Given the description of an element on the screen output the (x, y) to click on. 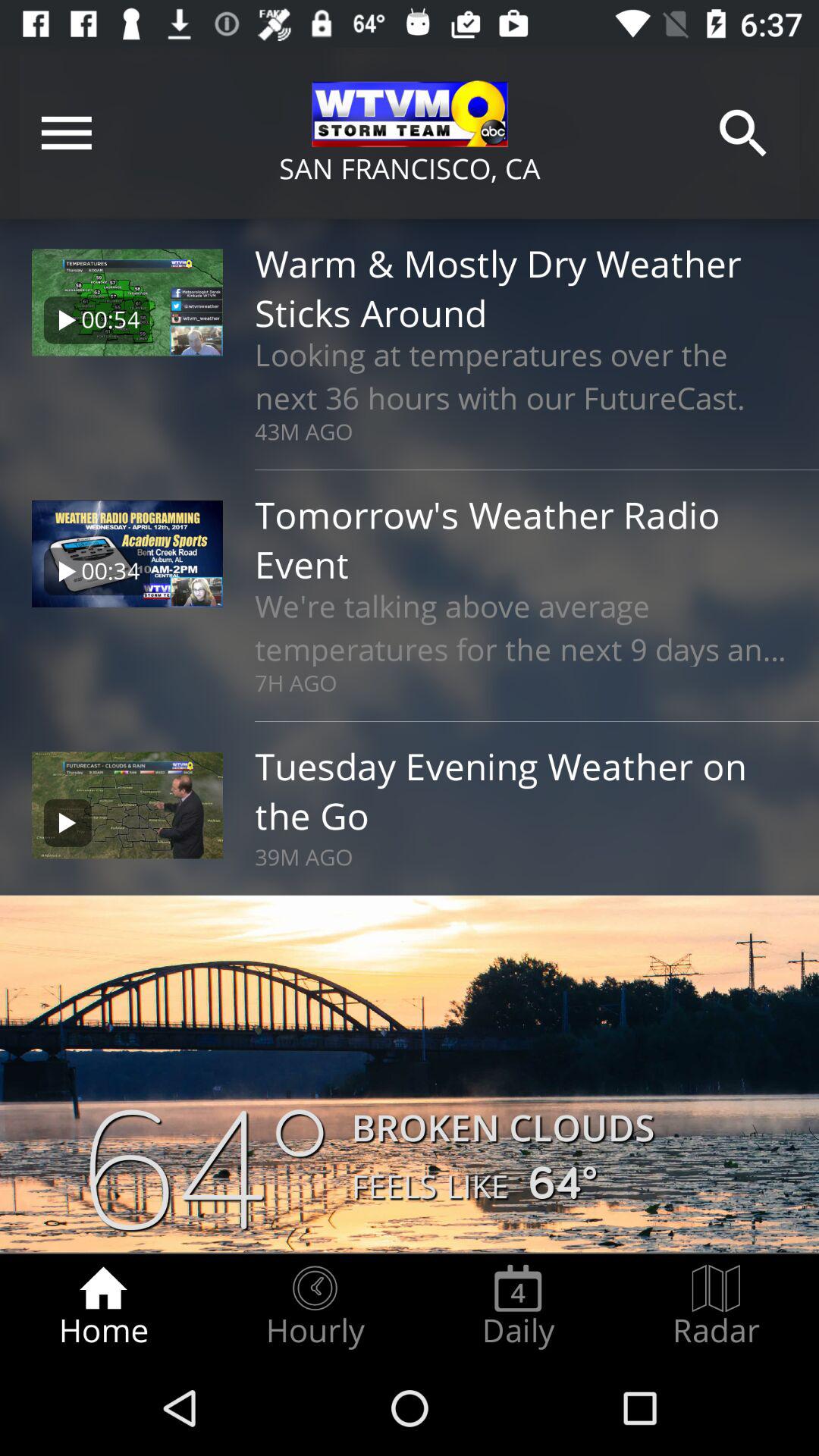
turn off icon to the right of the hourly item (518, 1307)
